Given the description of an element on the screen output the (x, y) to click on. 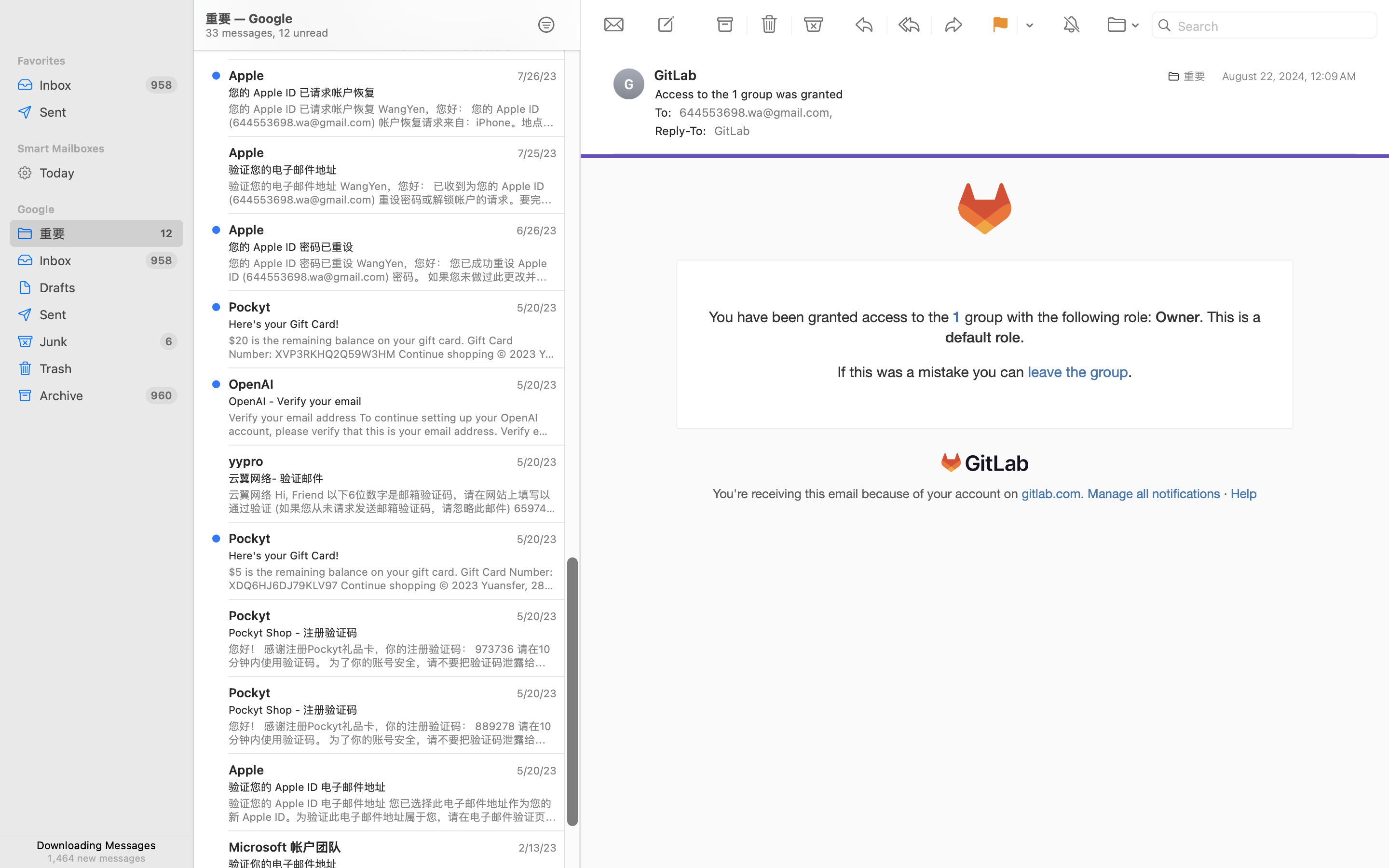
Trash Element type: AXStaticText (107, 368)
GitLab Element type: AXStaticText (679, 74)
Favorites Element type: AXStaticText (96, 60)
Owner Element type: AXStaticText (1177, 316)
You're receiving this email because of your account on Element type: AXStaticText (867, 493)
